Given the description of an element on the screen output the (x, y) to click on. 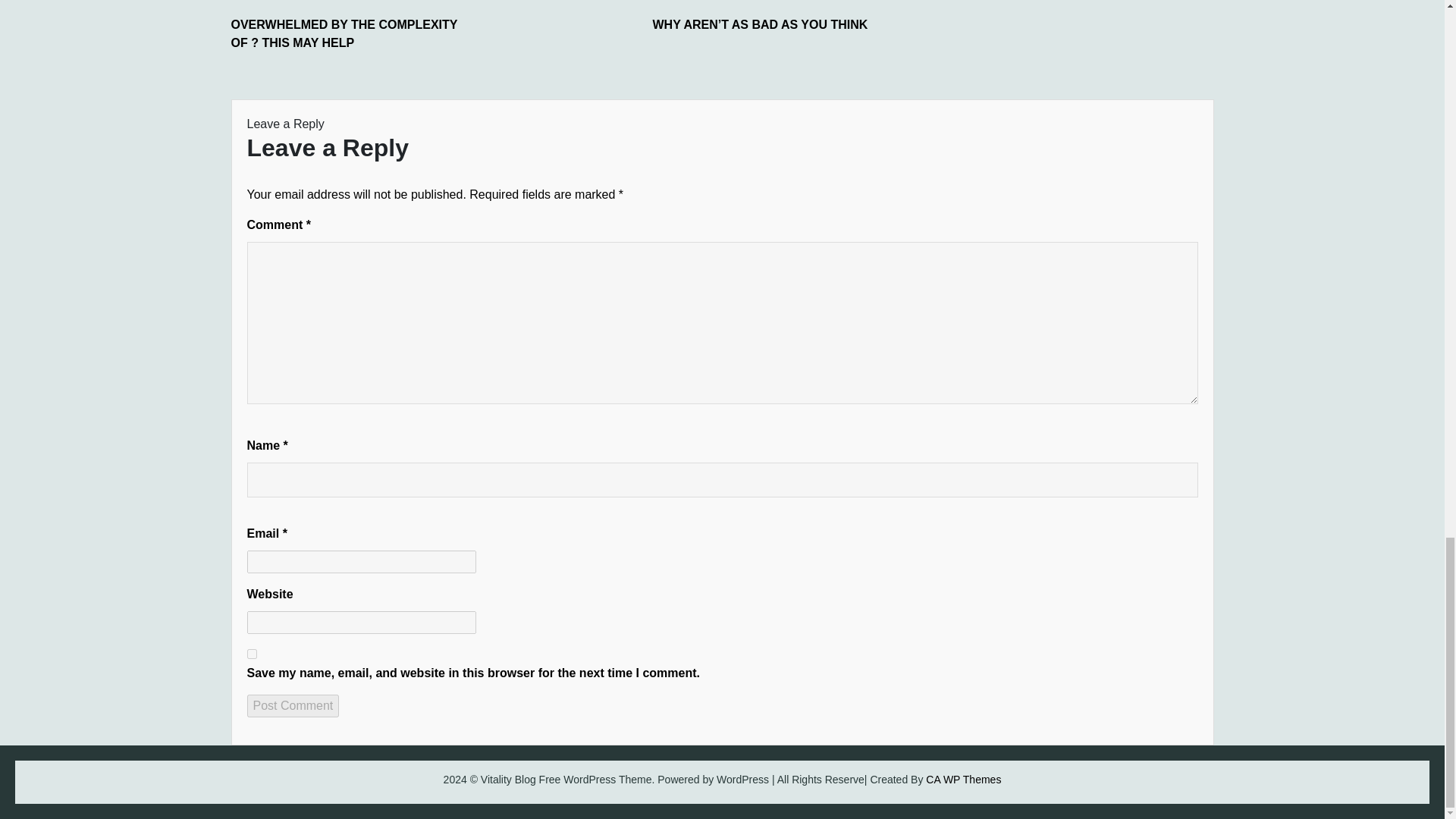
CA WP Themes (963, 779)
yes (252, 654)
Post Comment (293, 705)
Post Comment (293, 705)
OVERWHELMED BY THE COMPLEXITY OF ? THIS MAY HELP (344, 33)
